Given the description of an element on the screen output the (x, y) to click on. 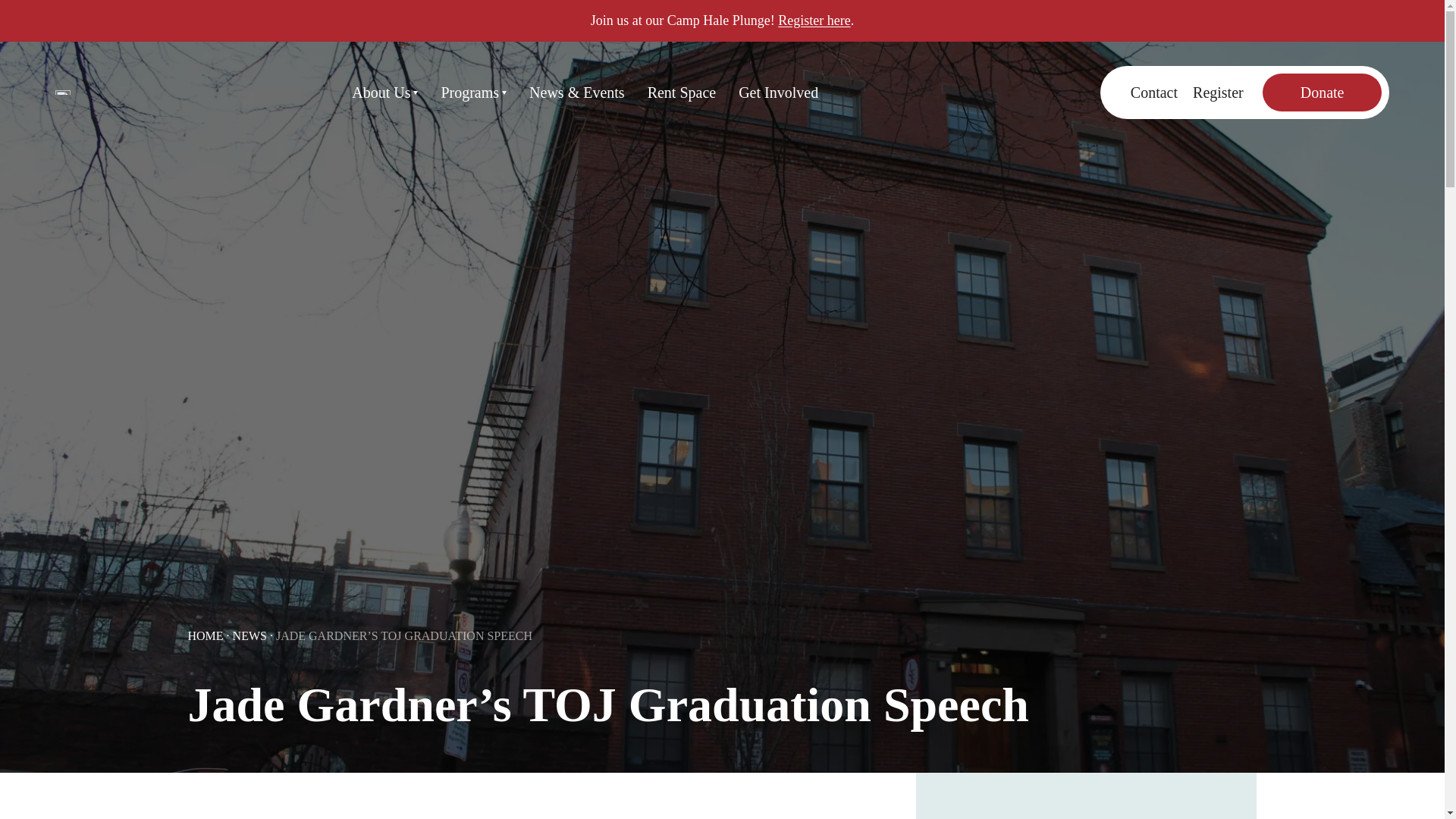
Register here (813, 20)
Donate (1321, 92)
About Us (384, 92)
HOME (205, 635)
Get Involved (778, 92)
Rent Space (681, 92)
Register (1217, 92)
Contact (1154, 92)
Programs (473, 92)
NEWS (249, 635)
